Given the description of an element on the screen output the (x, y) to click on. 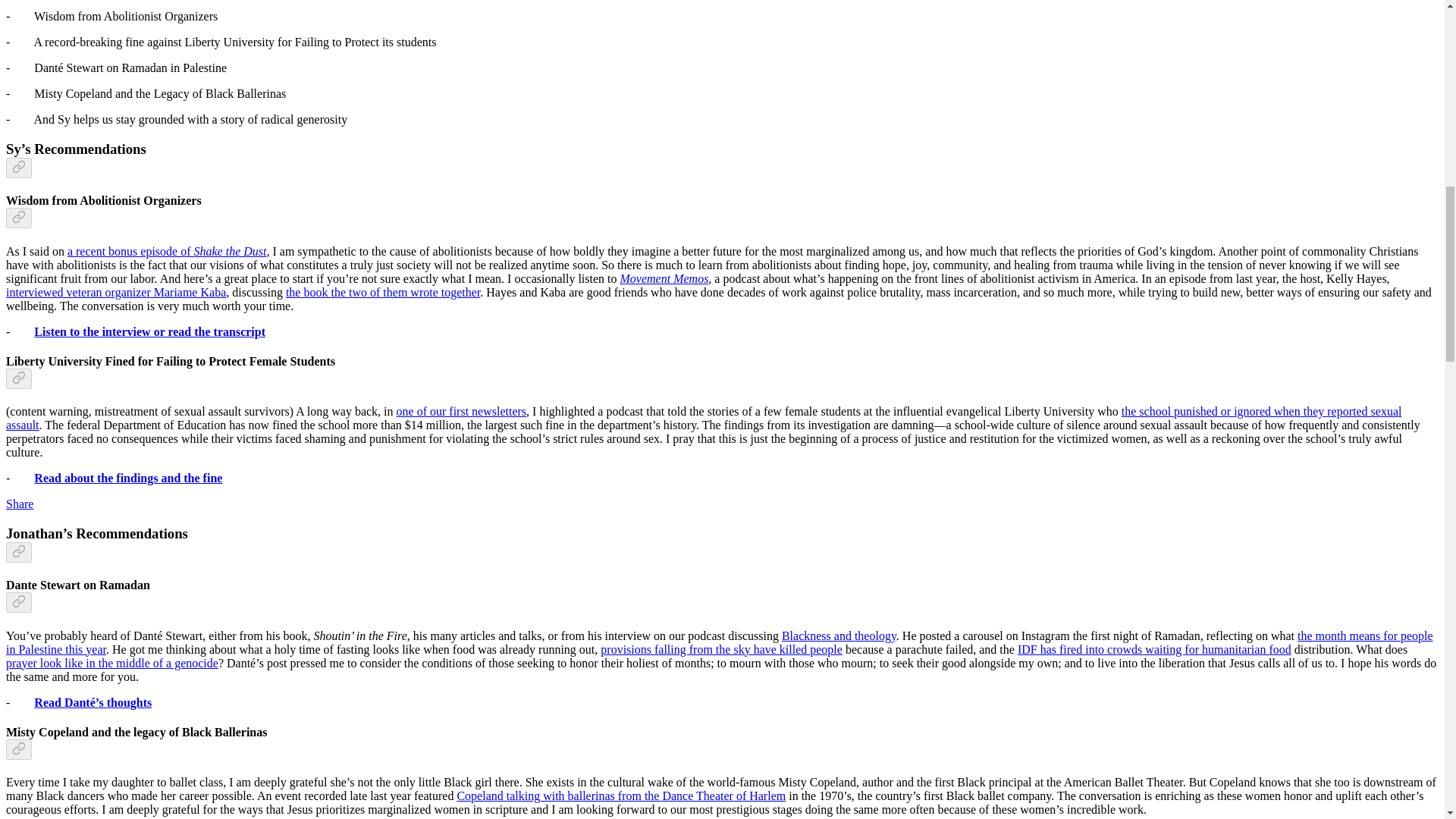
Read about the findings and the fine (127, 477)
one of our first newsletters (461, 410)
interviewed veteran organizer Mariame Kaba (115, 291)
Blackness and theology (838, 635)
Listen to the interview or read the transcript (148, 331)
Movement Memos (664, 278)
Shake the Dust (229, 250)
Share (19, 503)
a recent bonus episode of (129, 250)
the book the two of them wrote together (382, 291)
